Given the description of an element on the screen output the (x, y) to click on. 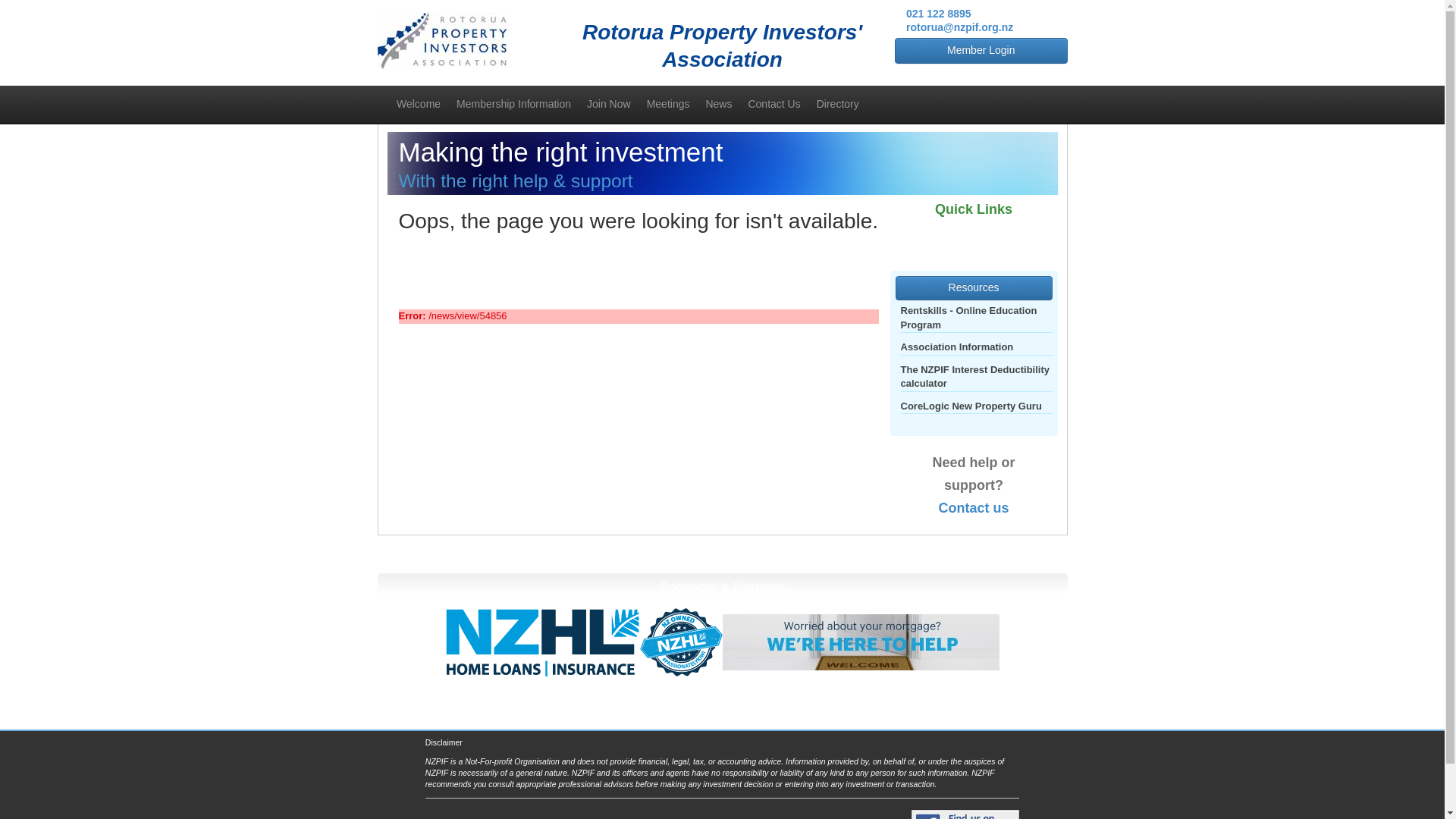
Member Login (981, 50)
Membership Information (513, 103)
Rentskills - Online Education Program (976, 317)
Association Information (957, 347)
News (718, 103)
Join Now (609, 103)
Contact us (973, 507)
Resources (973, 288)
Contact Us (773, 103)
Welcome (418, 103)
